Given the description of an element on the screen output the (x, y) to click on. 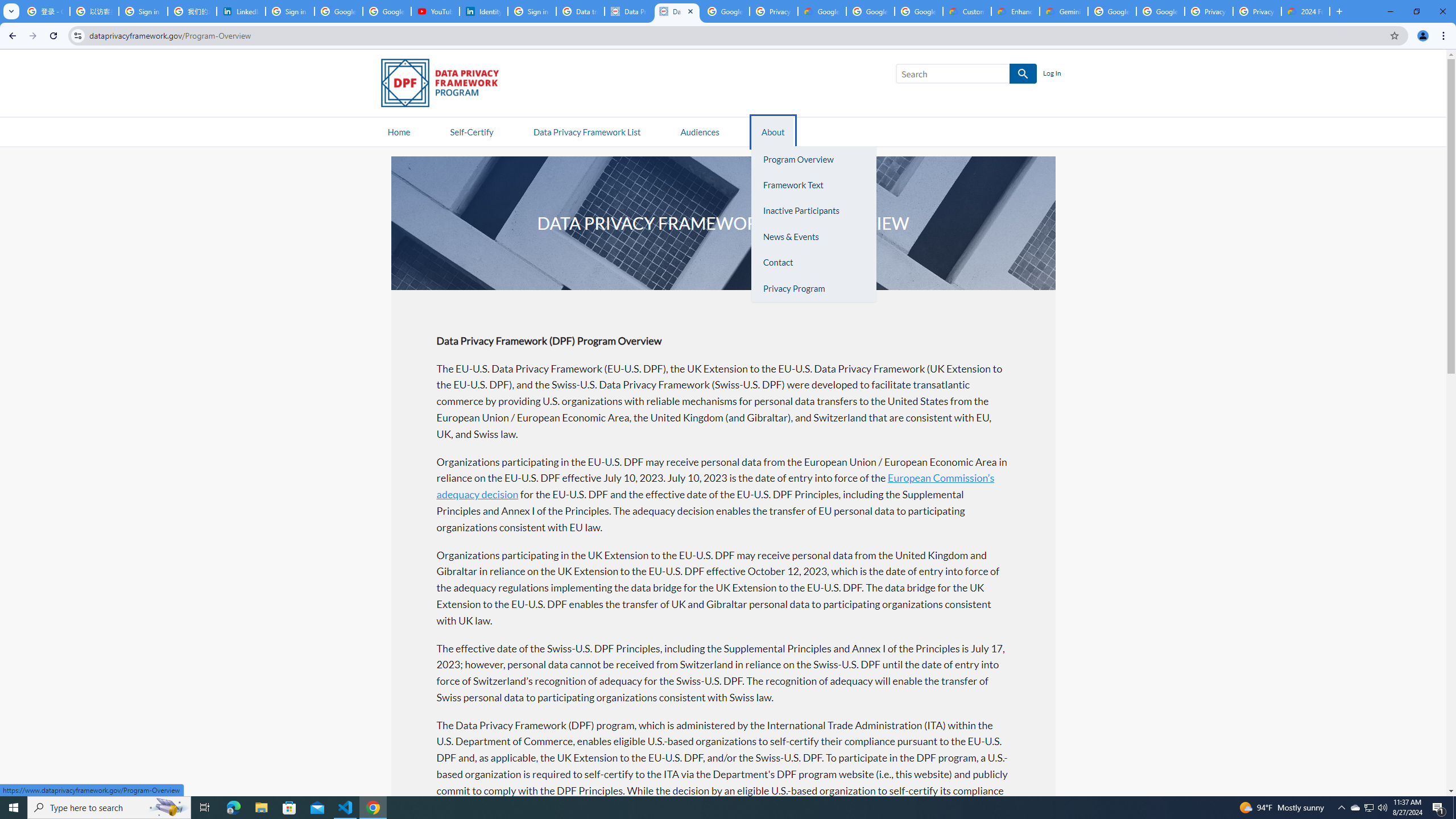
Inactive Participants (813, 211)
Enhanced Support | Google Cloud (1015, 11)
Google Cloud Platform (1112, 11)
Google Workspace - Specific Terms (870, 11)
Log In (1051, 73)
About (772, 131)
